Given the description of an element on the screen output the (x, y) to click on. 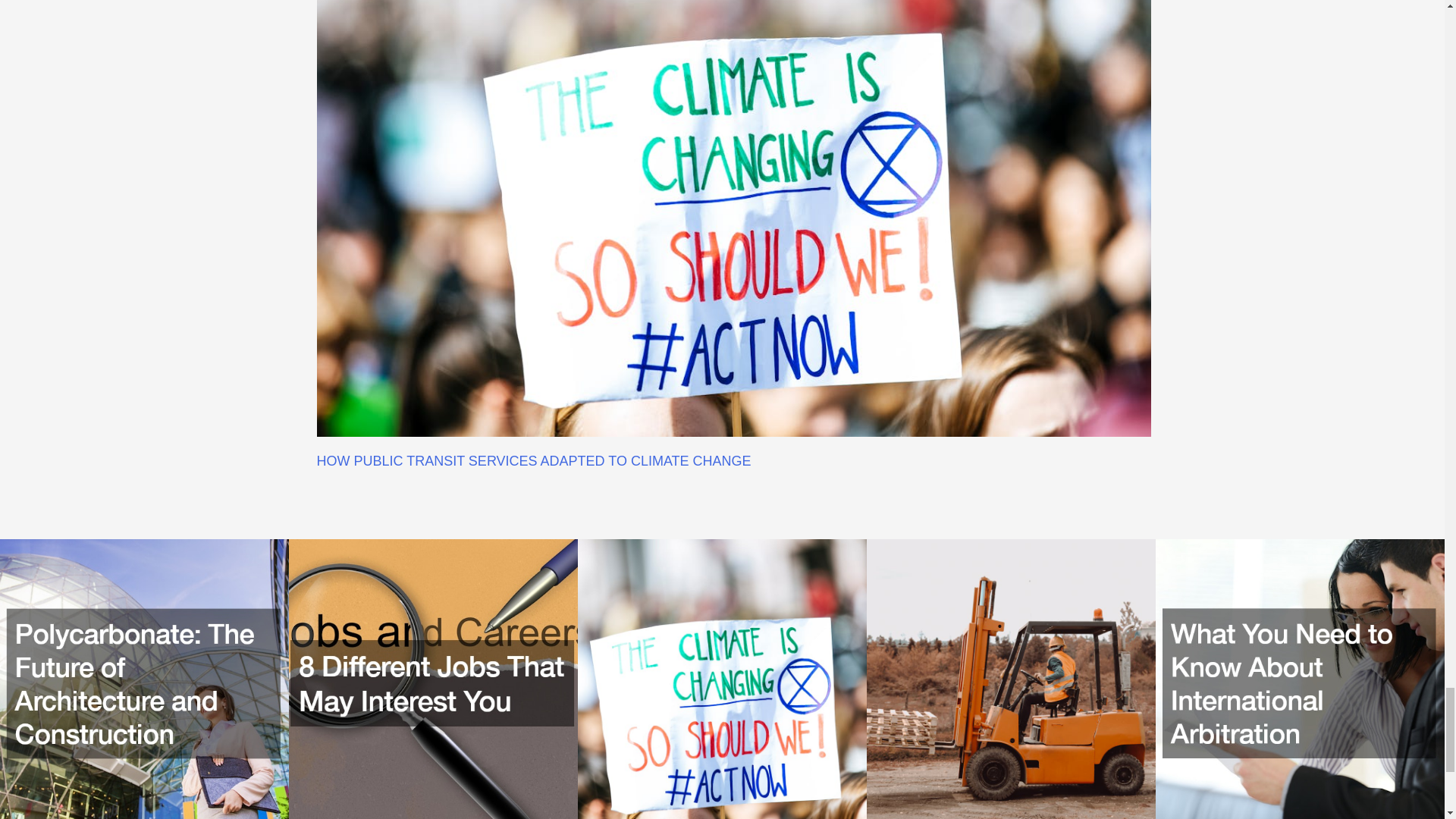
HOW PUBLIC TRANSIT SERVICES ADAPTED TO CLIMATE CHANGE (534, 460)
